Given the description of an element on the screen output the (x, y) to click on. 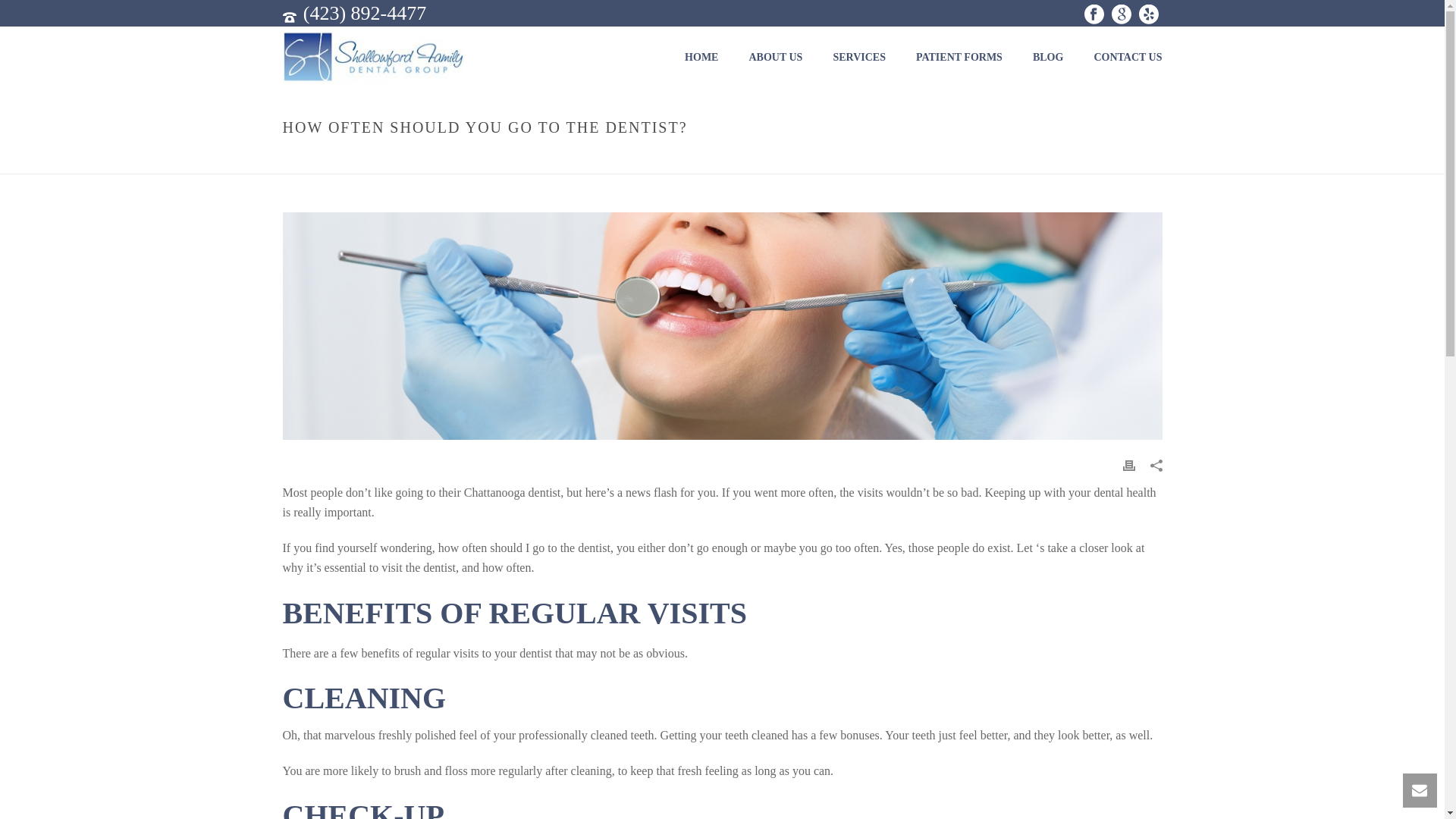
CONTACT US (1127, 57)
Going above and beyond to make you smile! (372, 56)
PATIENT FORMS (959, 57)
CONTACT US (1127, 57)
PATIENT FORMS (959, 57)
HOME (701, 57)
ABOUT US (774, 57)
BLOG (1047, 57)
ABOUT US (774, 57)
SERVICES (858, 57)
